Given the description of an element on the screen output the (x, y) to click on. 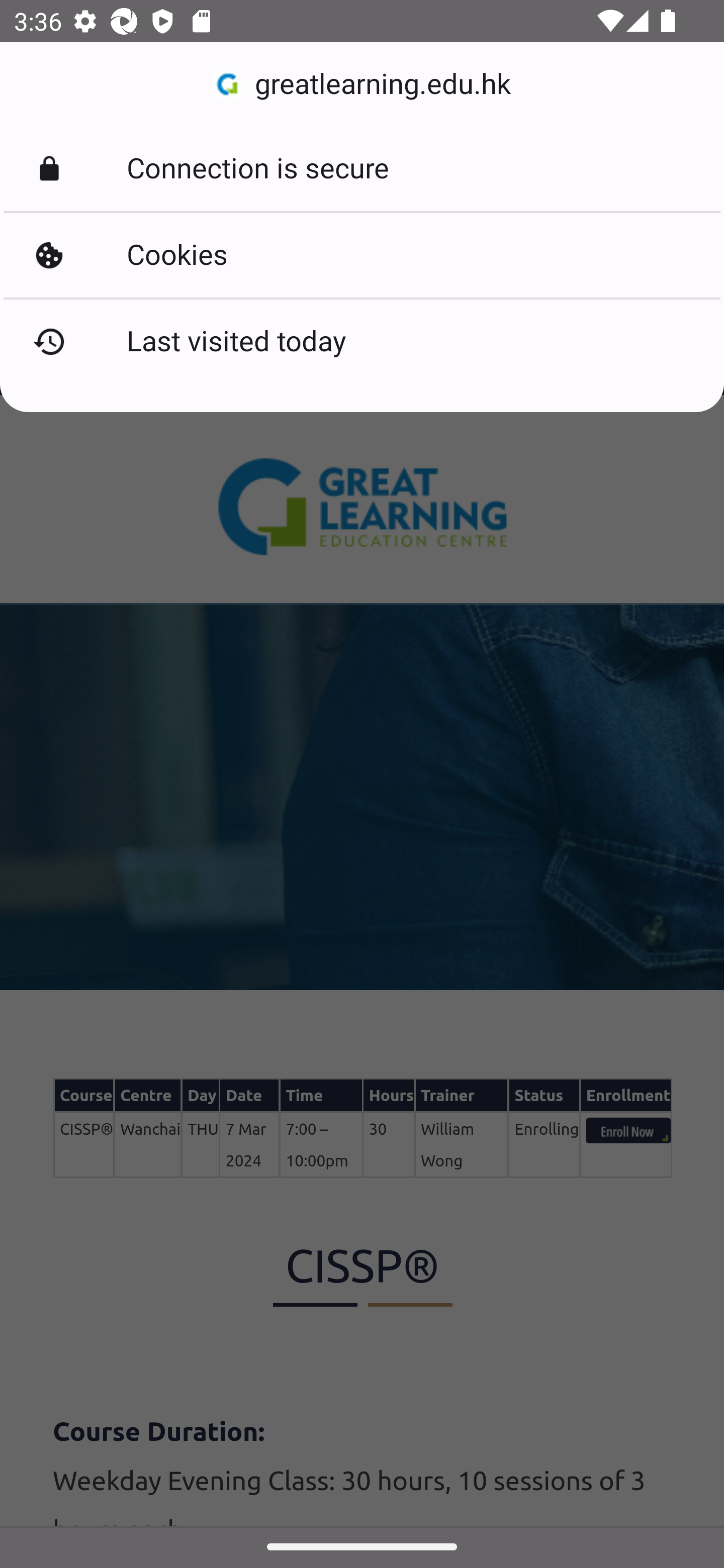
greatlearning.edu.hk (362, 84)
Connection is secure (362, 169)
Cookies (362, 255)
Last visited today (362, 341)
